Given the description of an element on the screen output the (x, y) to click on. 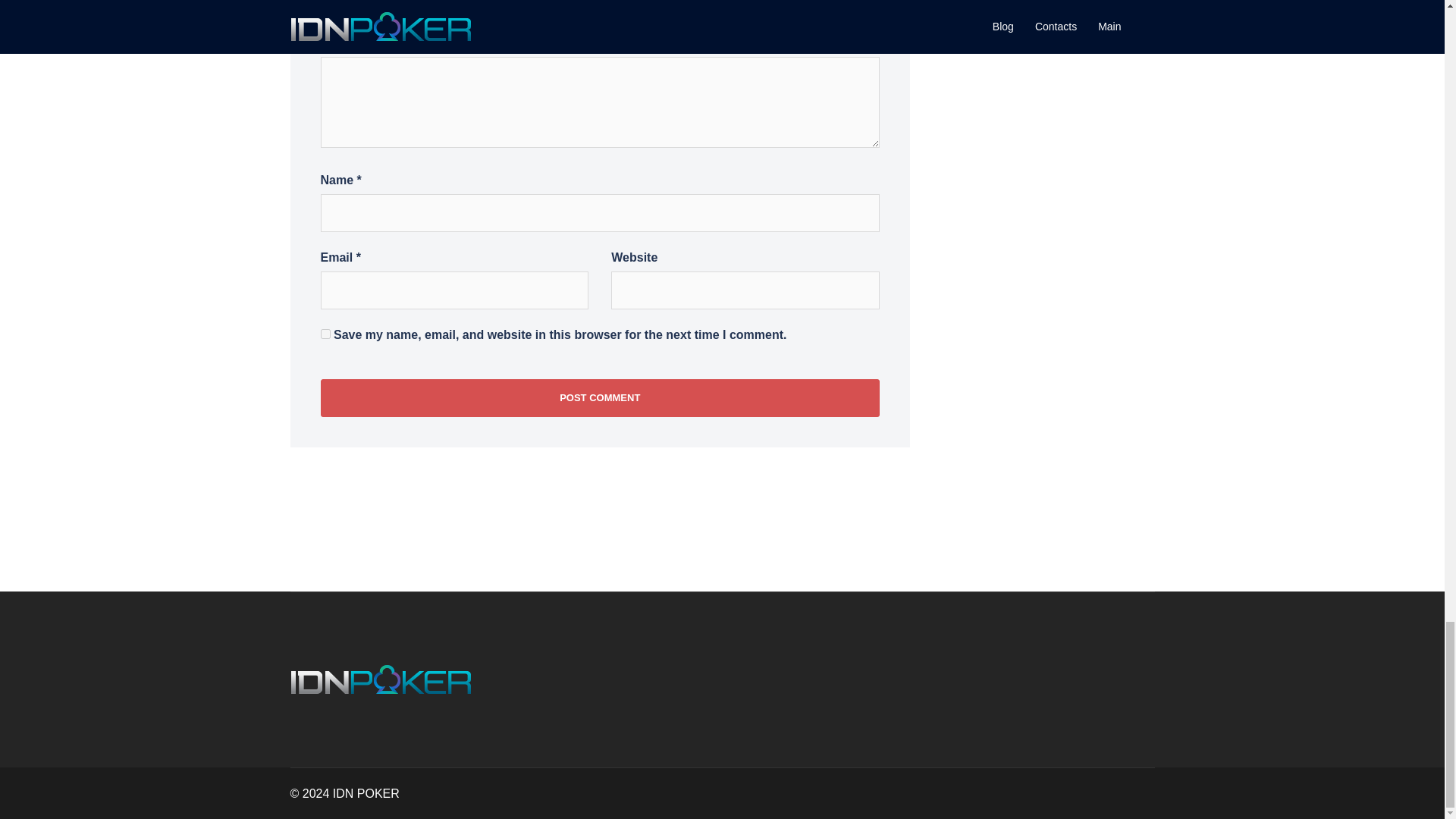
Post Comment (599, 397)
yes (325, 334)
Post Comment (599, 397)
